Given the description of an element on the screen output the (x, y) to click on. 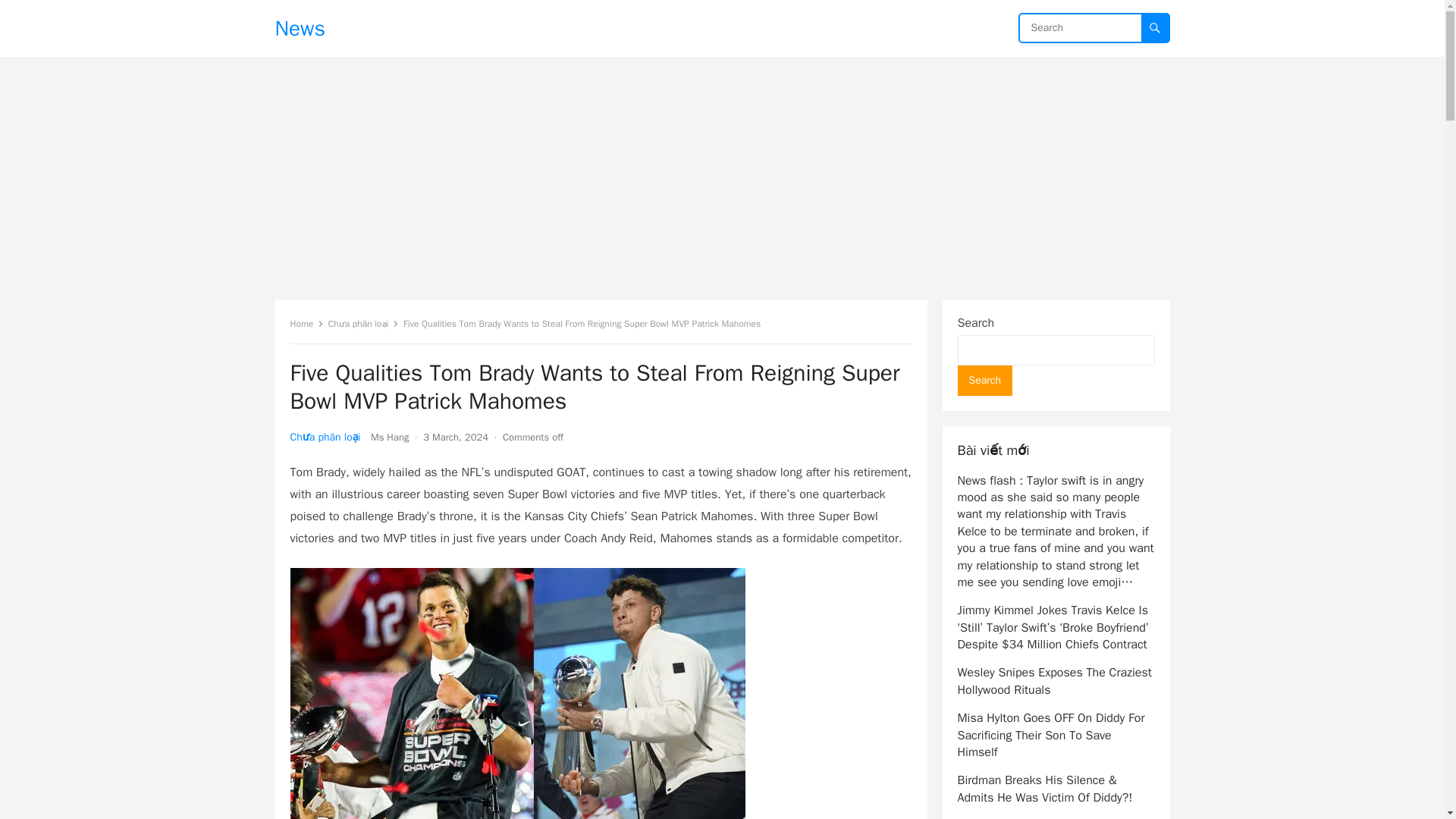
News (299, 28)
Posts by Ms Hang (390, 436)
Home (306, 323)
Ms Hang (390, 436)
